Given the description of an element on the screen output the (x, y) to click on. 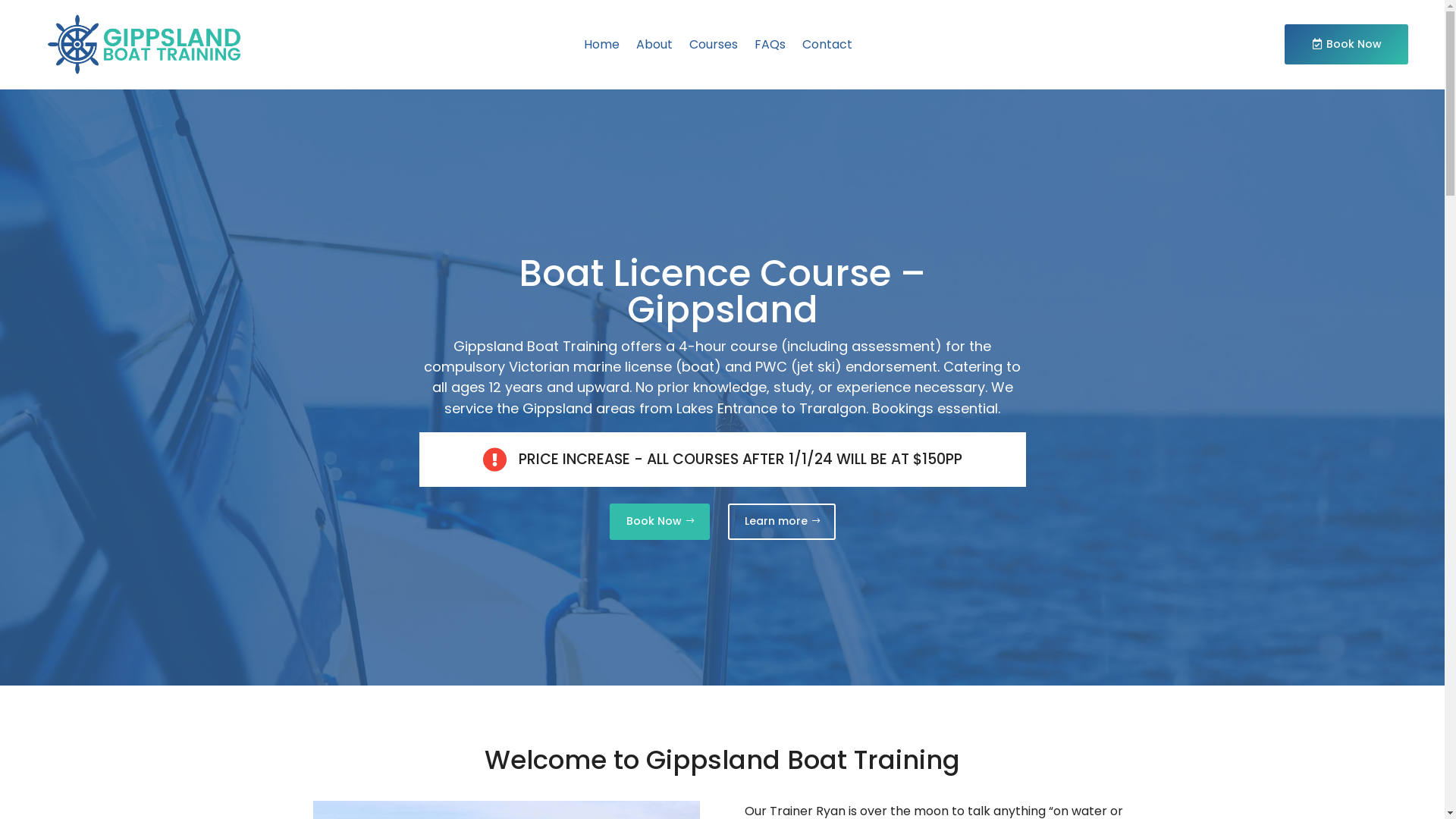
About Element type: text (654, 44)
Contact Element type: text (827, 44)
Book Now Element type: text (659, 521)
Learn more Element type: text (781, 521)
Logo-2 Element type: hover (144, 44)
FAQs Element type: text (769, 44)
Book Now Element type: text (1346, 44)
Home Element type: text (601, 44)
Courses Element type: text (713, 44)
